Given the description of an element on the screen output the (x, y) to click on. 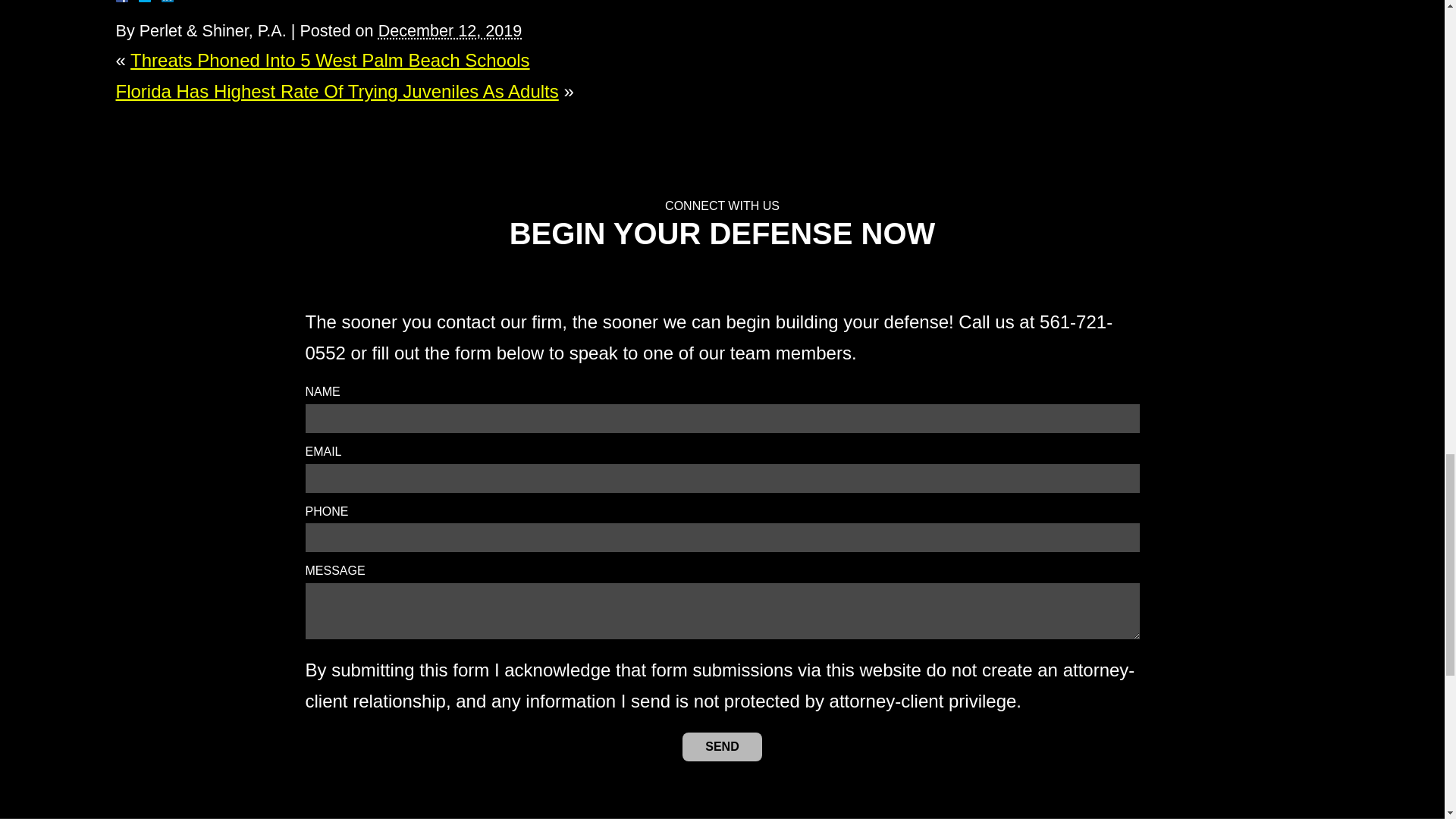
LinkedIn (160, 1)
Facebook (139, 1)
Send (721, 746)
2019-12-12T07:04:27-0800 (450, 30)
Twitter (149, 1)
